Given the description of an element on the screen output the (x, y) to click on. 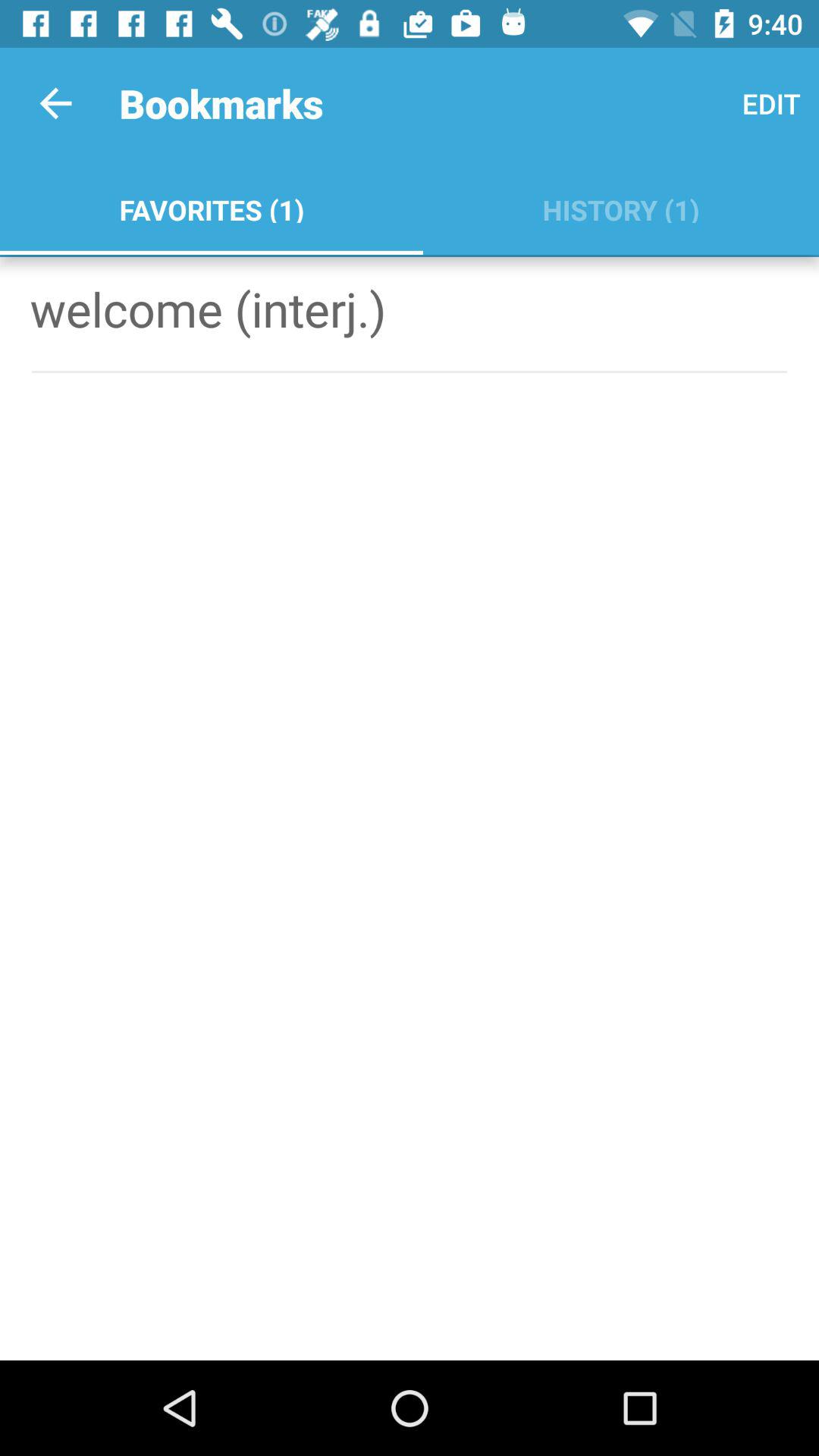
swipe to favorites (1) app (211, 206)
